Given the description of an element on the screen output the (x, y) to click on. 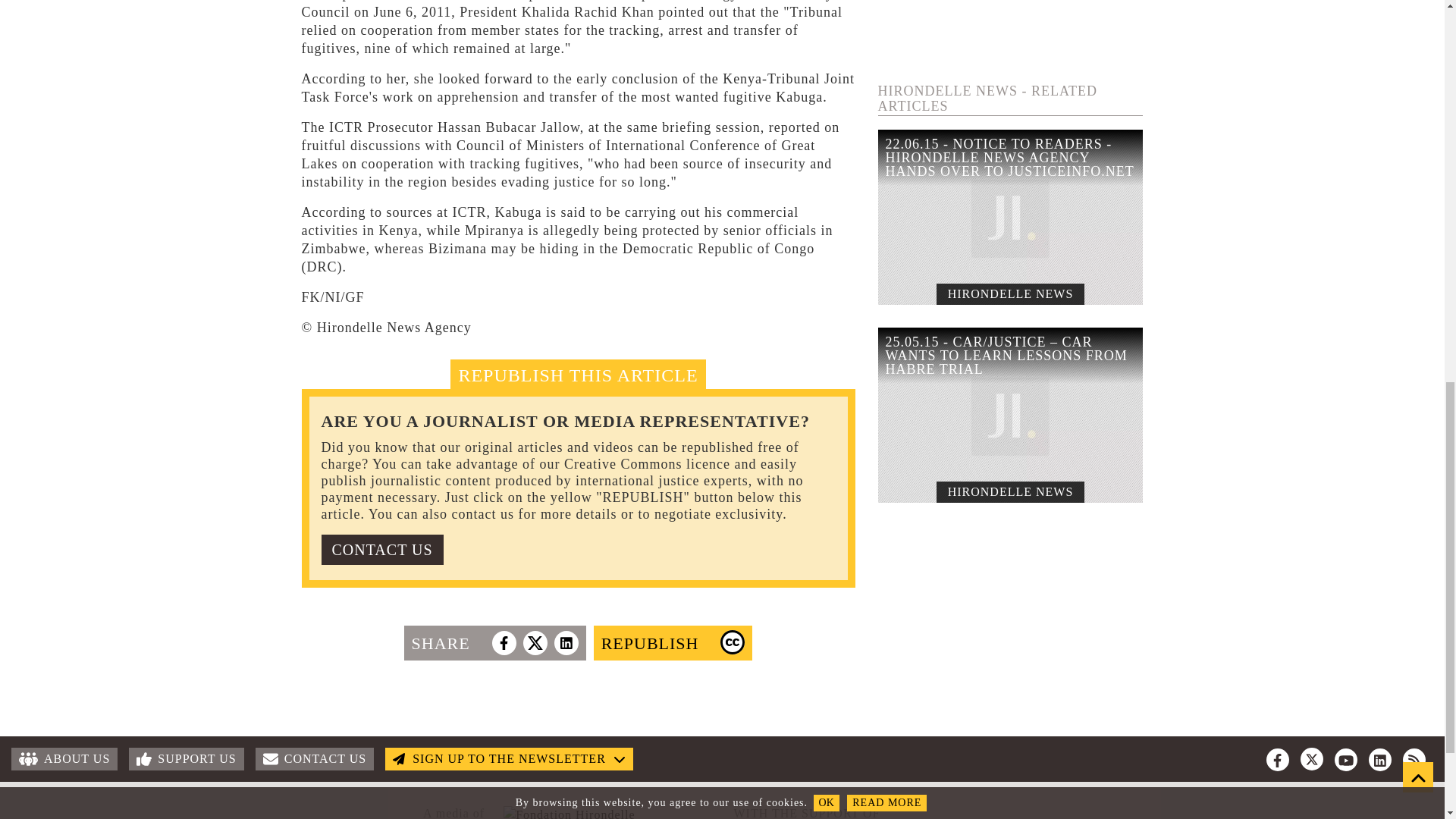
Youtube (1345, 759)
Twitter (1311, 758)
LinkedIn (1379, 759)
Facebook (1277, 759)
RSS (1414, 759)
